Given the description of an element on the screen output the (x, y) to click on. 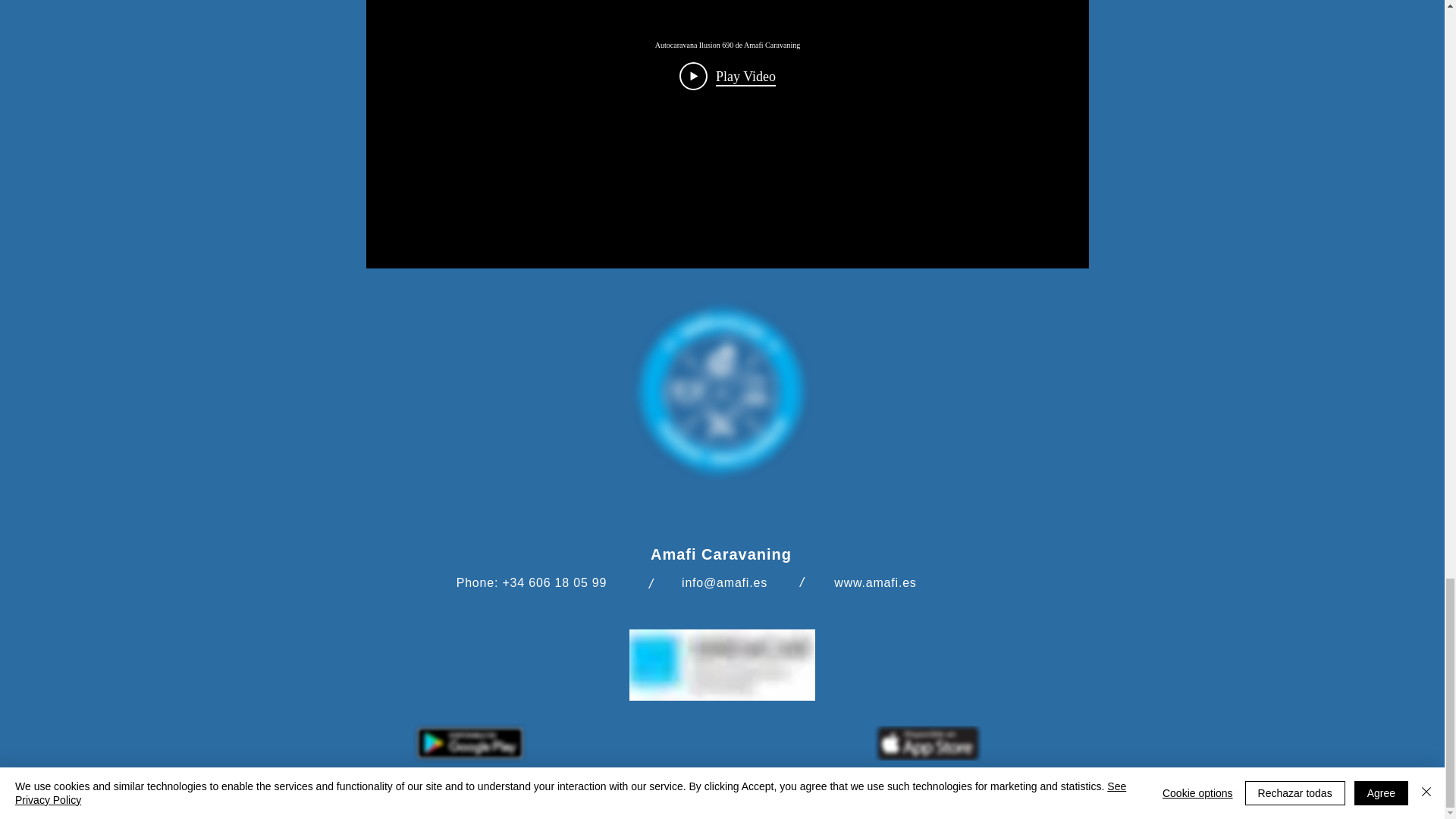
Disponible en Google Play (470, 742)
Disponible en app store (927, 742)
www.amafi.es (874, 582)
Autocaravana Ilusion 690 de Amafi Caravaning (726, 43)
